Given the description of an element on the screen output the (x, y) to click on. 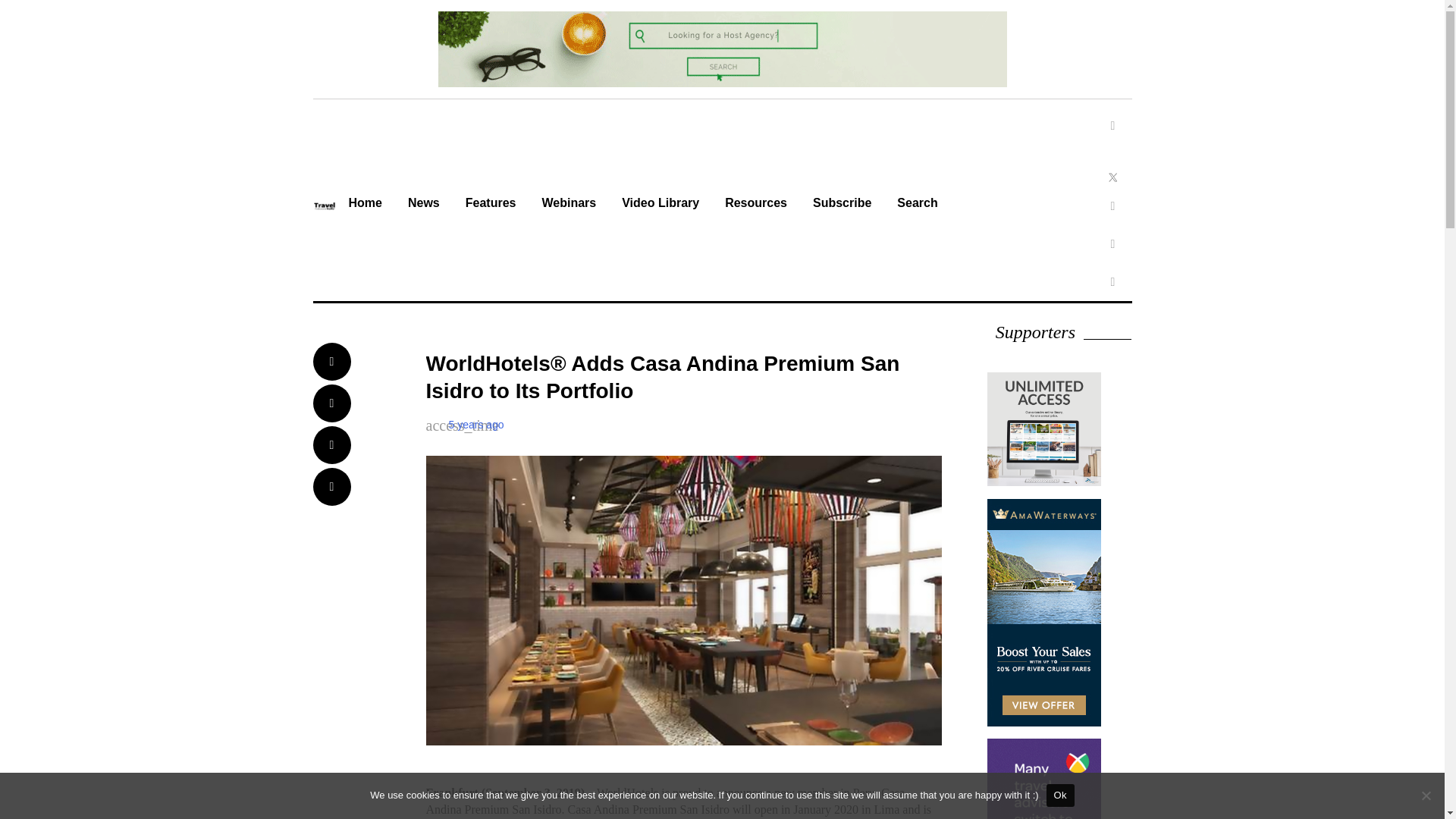
Instagram (1112, 206)
Share on Twitter (331, 403)
LinkedIn (1112, 243)
Youtube (1112, 281)
News (423, 205)
Share on Facebook (331, 361)
Twitter (1112, 163)
Resources (755, 205)
Subscribe (841, 205)
There is no place like home (364, 205)
Home (364, 205)
Facebook (1112, 125)
No (1425, 795)
Share on LinkedIn (331, 444)
Video Library (659, 205)
